Given the description of an element on the screen output the (x, y) to click on. 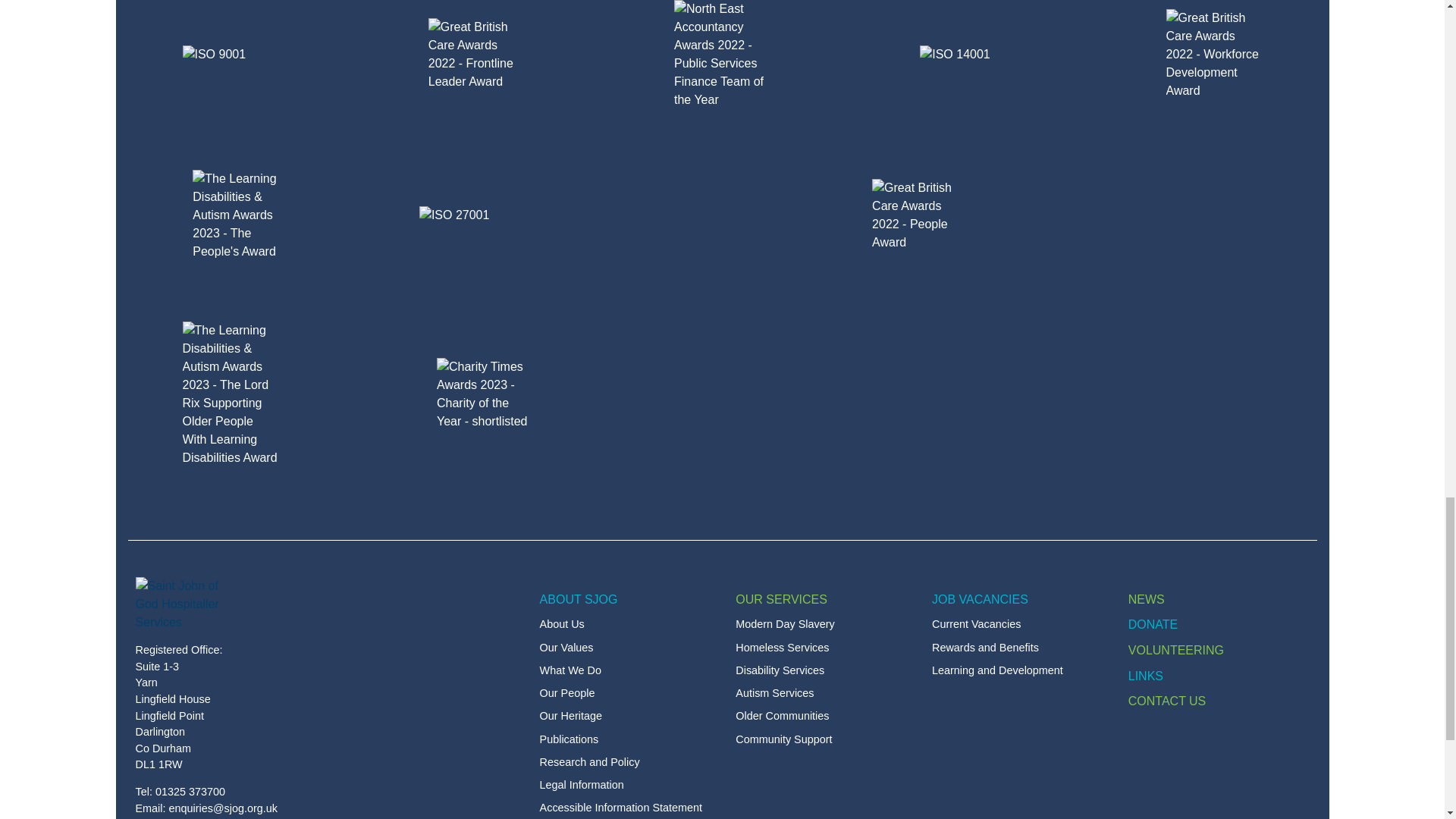
Accessible information statement (630, 807)
Publications (630, 762)
About us (630, 624)
Publications (630, 739)
Legal information (630, 785)
Our values (630, 647)
Homeless services (826, 647)
Modern day slavery services (826, 624)
What we do (630, 670)
Our heritage (630, 716)
